Given the description of an element on the screen output the (x, y) to click on. 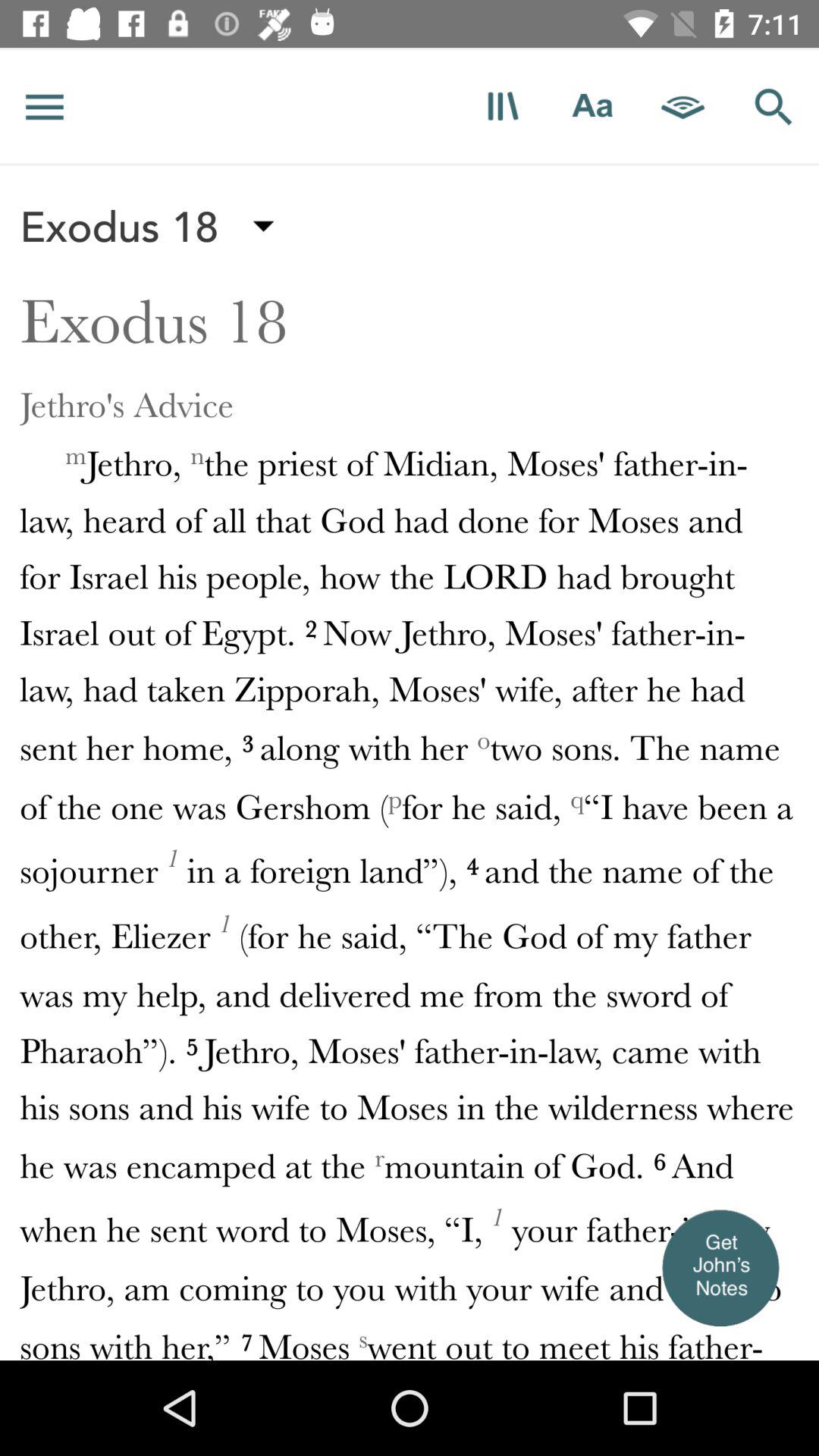
show user notes (720, 1267)
